Given the description of an element on the screen output the (x, y) to click on. 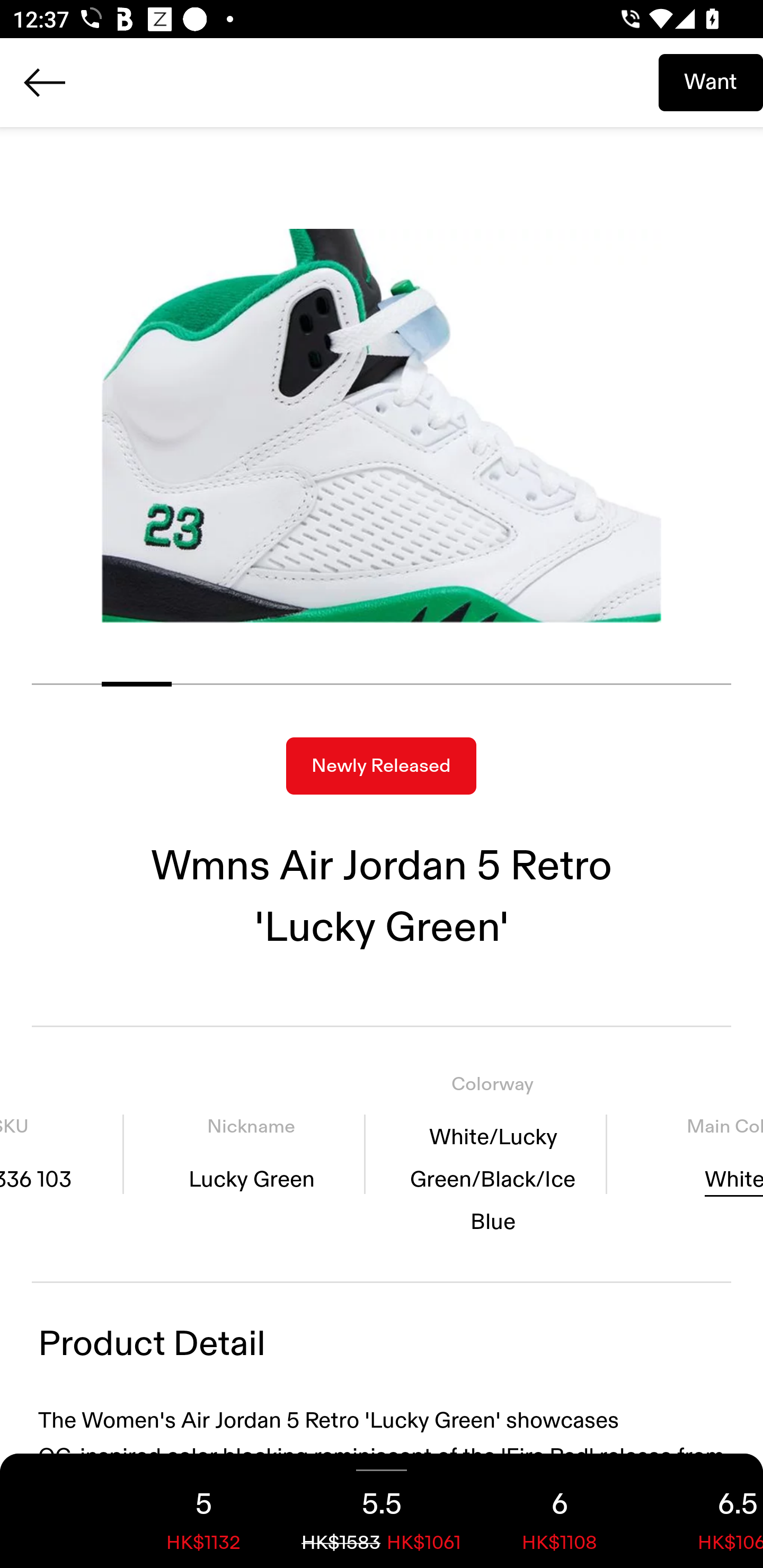
Want (710, 82)
Newly Released (381, 765)
Nickname Lucky Green (250, 1153)
Colorway White/Lucky Green/Black/Ice Blue (492, 1153)
5 HK$1132 (203, 1510)
5.5 HK$1583 HK$1061 (381, 1510)
6 HK$1108 (559, 1510)
6.5 HK$1068 (705, 1510)
